Given the description of an element on the screen output the (x, y) to click on. 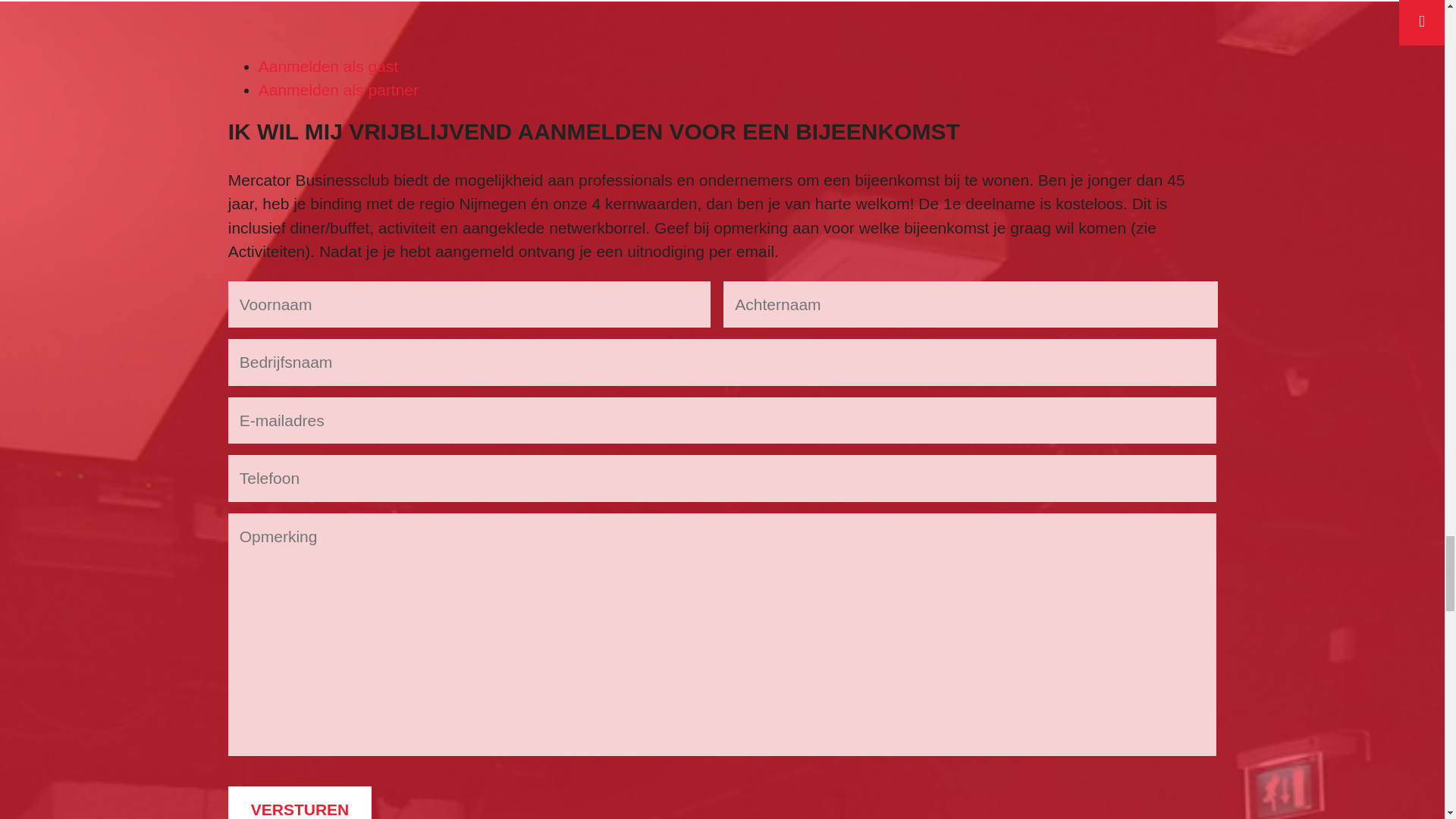
Aanmelden als partner (339, 89)
Versturen (300, 802)
Versturen (300, 802)
Aanmelden als gast (328, 66)
